Given the description of an element on the screen output the (x, y) to click on. 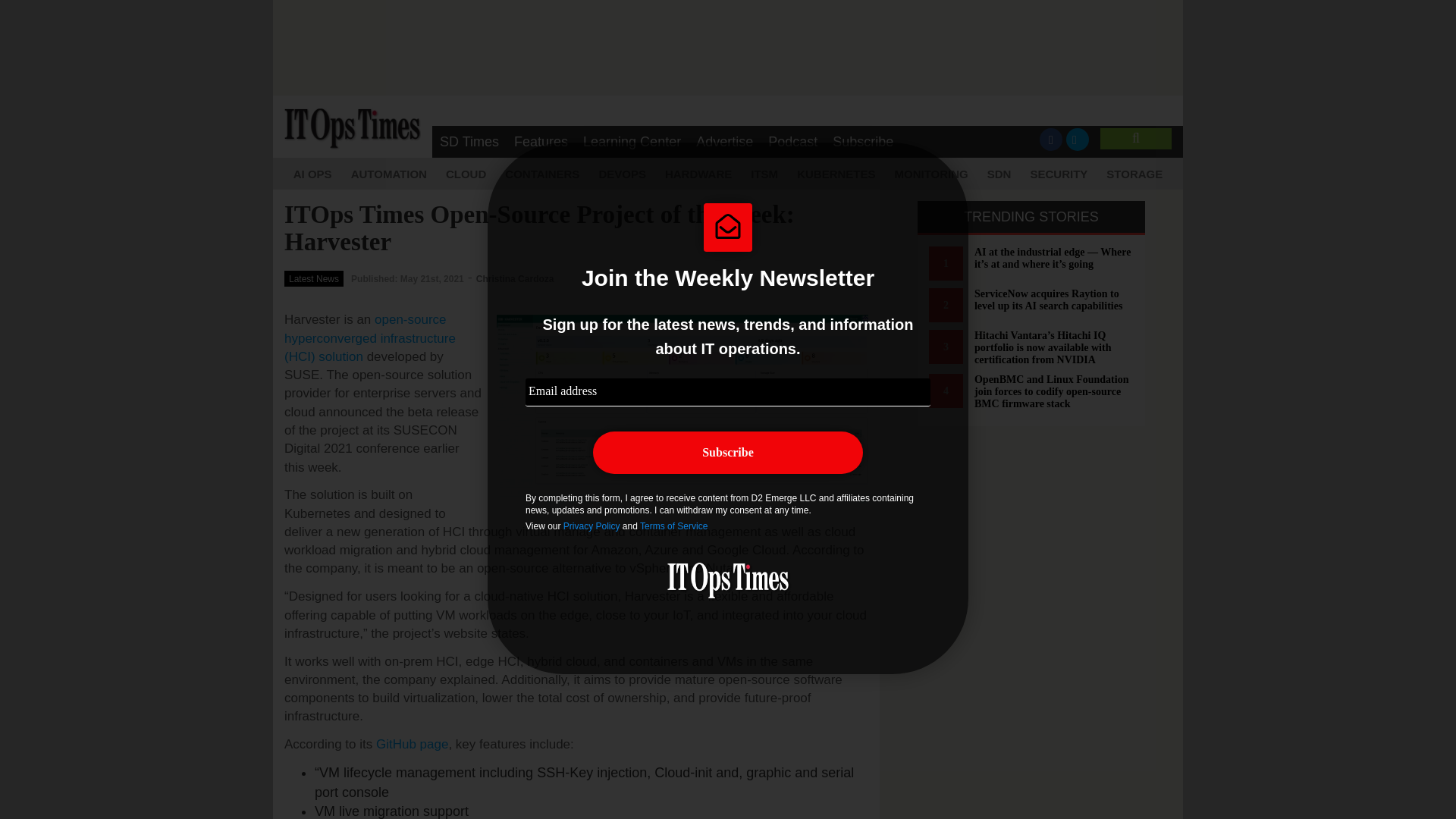
Podcast (792, 142)
Learning Center (631, 142)
Advertise (724, 142)
Subscribe (863, 142)
SD Times (469, 142)
Features (540, 142)
